Given the description of an element on the screen output the (x, y) to click on. 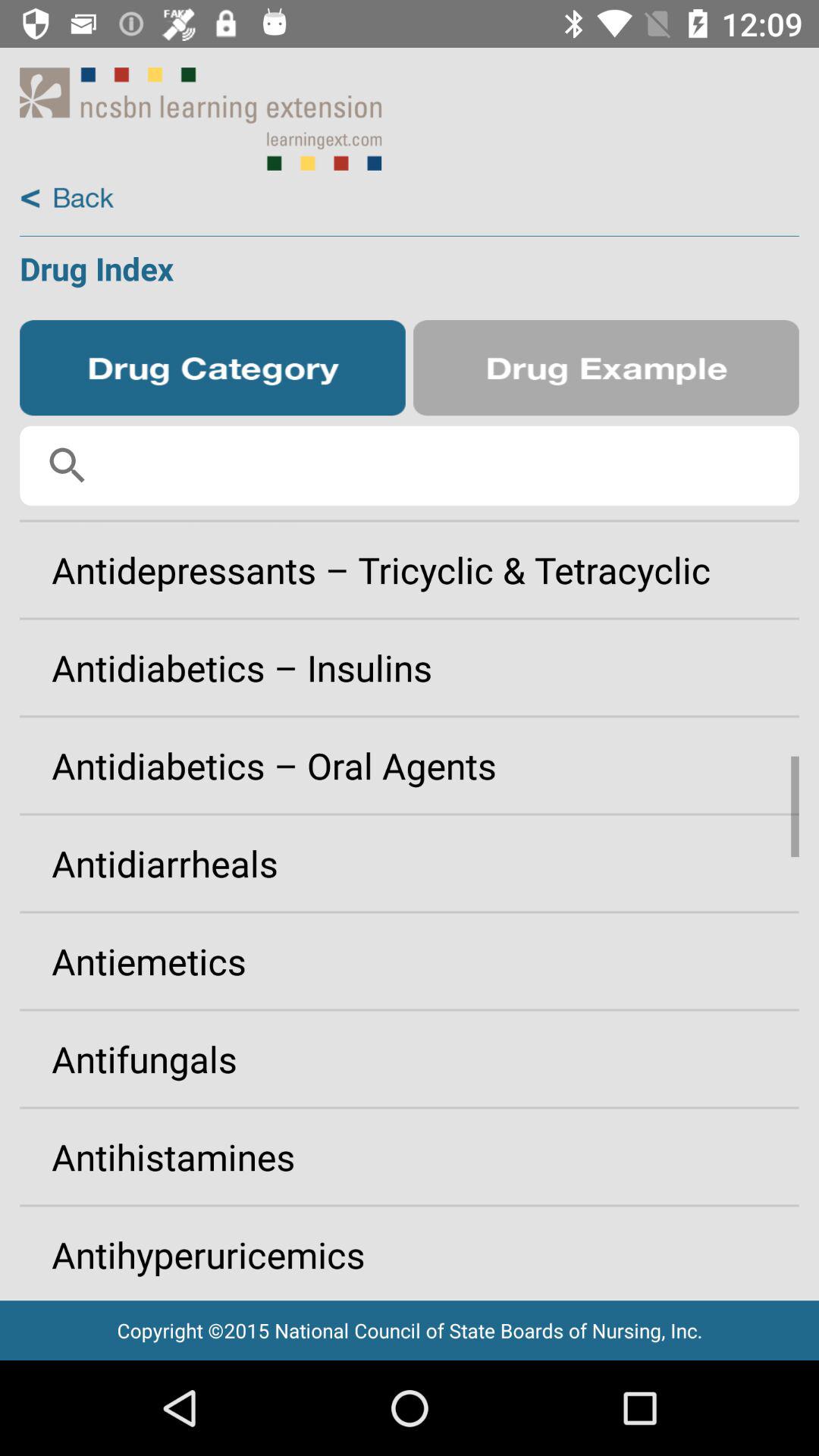
go back (66, 198)
